Given the description of an element on the screen output the (x, y) to click on. 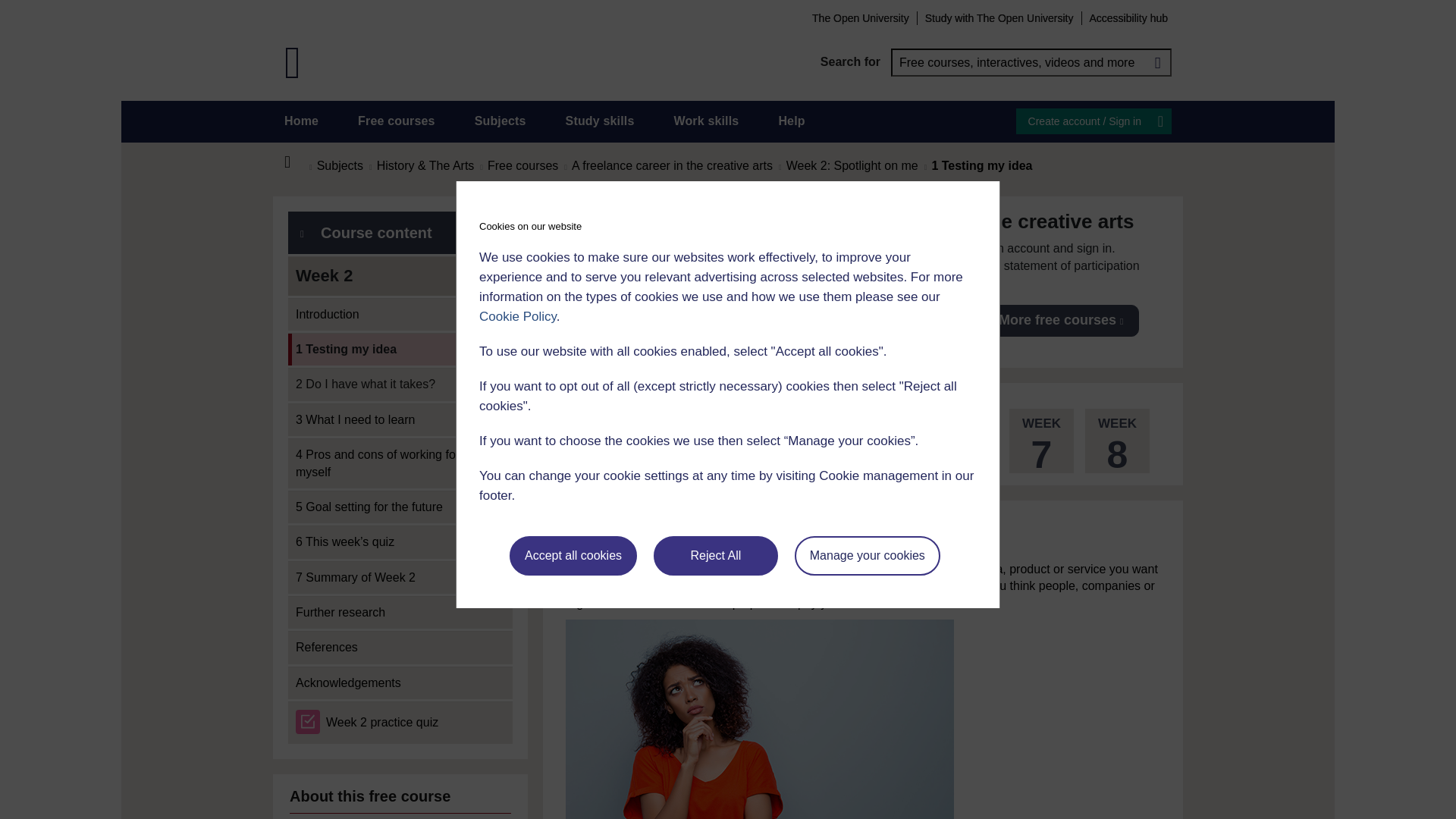
The Open University (860, 17)
Help (791, 120)
Subjects (499, 120)
Accept all cookies (573, 555)
Cookie Policy (517, 316)
Work skills (705, 120)
Reject All (715, 555)
Home (295, 162)
Free courses (396, 120)
Study skills (600, 120)
